Given the description of an element on the screen output the (x, y) to click on. 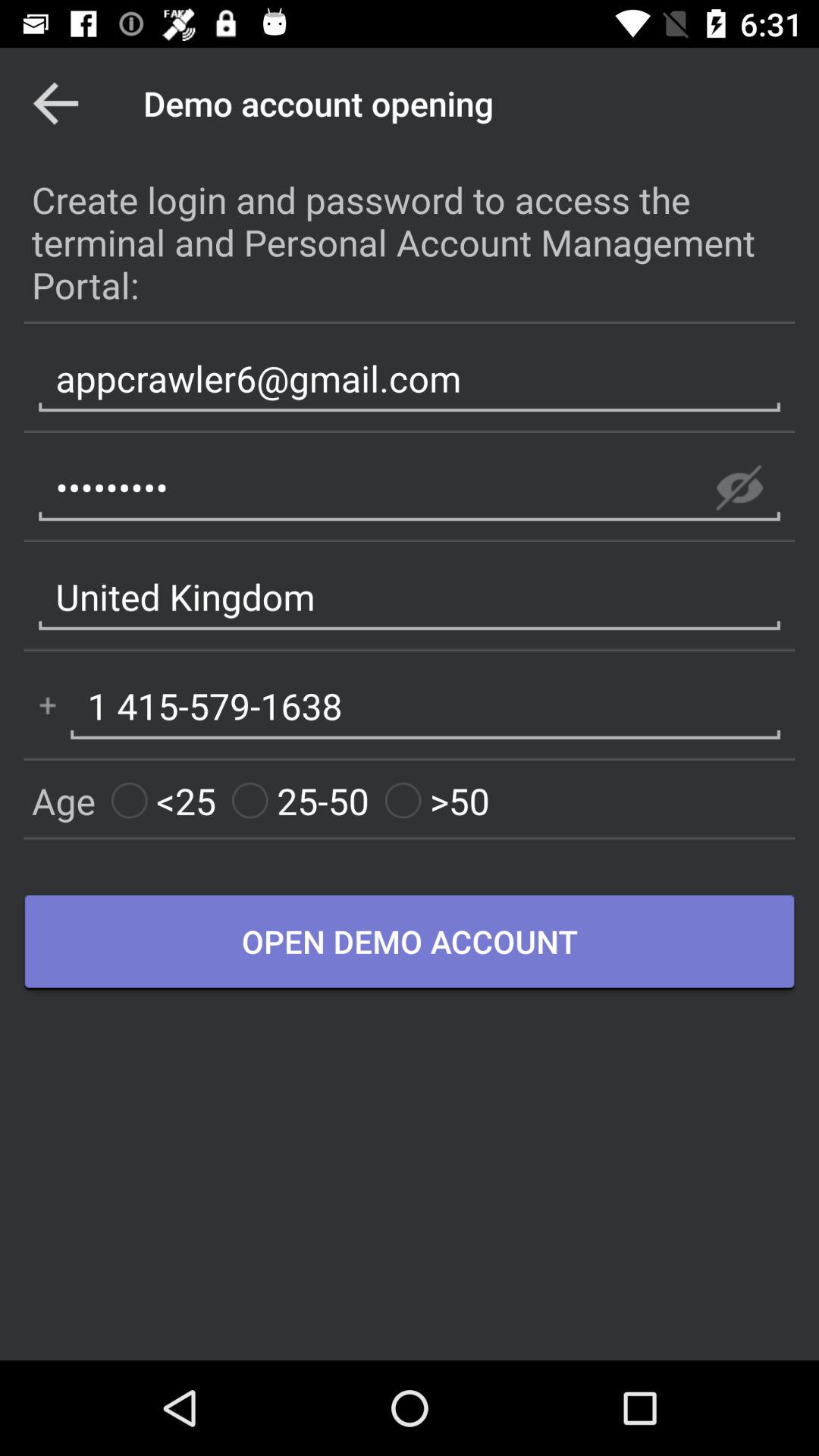
open item below the appcrawler6@gmail.com (739, 487)
